Given the description of an element on the screen output the (x, y) to click on. 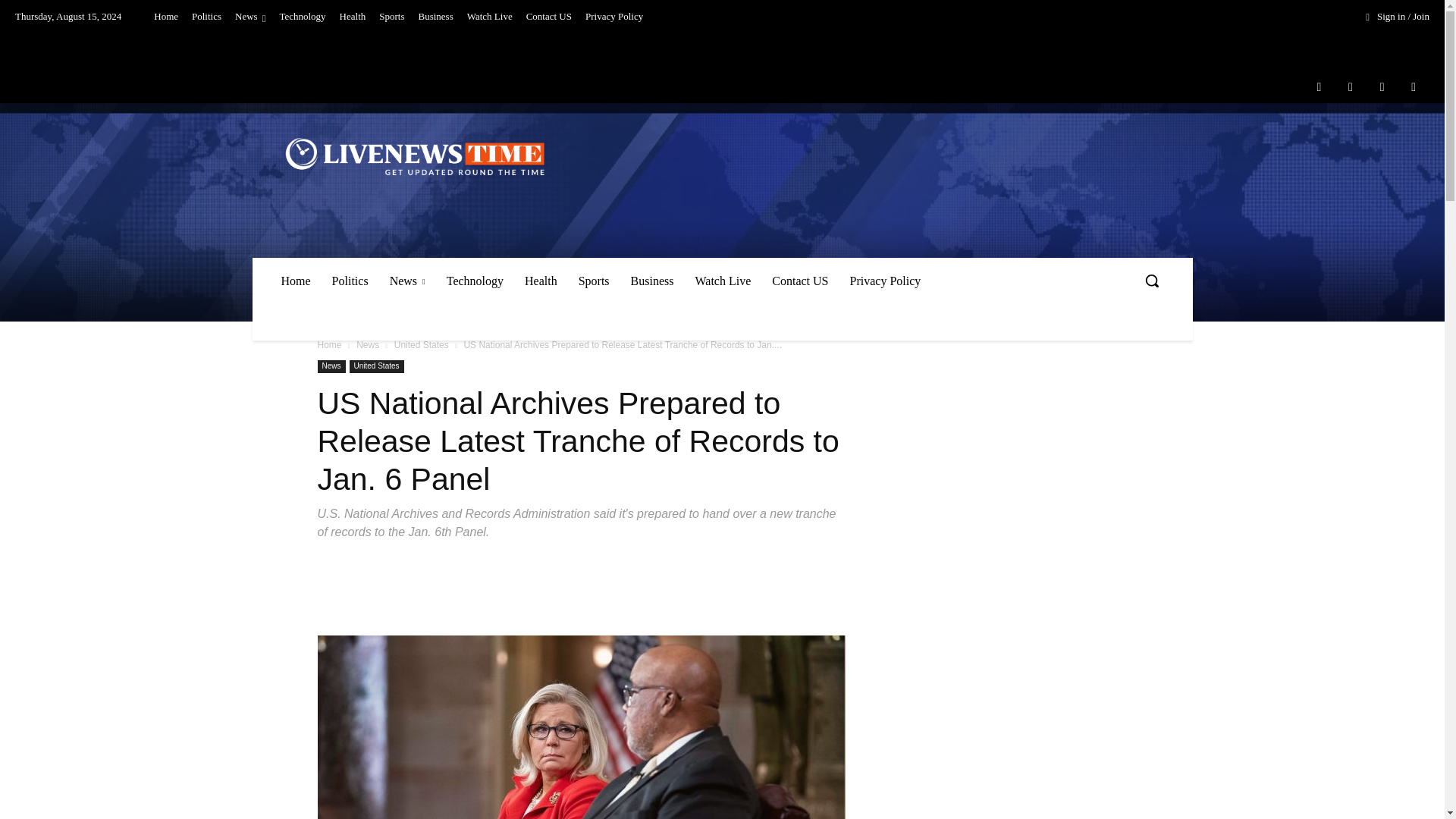
View all posts in News (367, 344)
Politics (206, 16)
View all posts in United States (421, 344)
News (250, 16)
Contact US (548, 16)
Youtube (1413, 87)
Technology (301, 16)
Business (435, 16)
Health (352, 16)
Facebook (1319, 87)
